Given the description of an element on the screen output the (x, y) to click on. 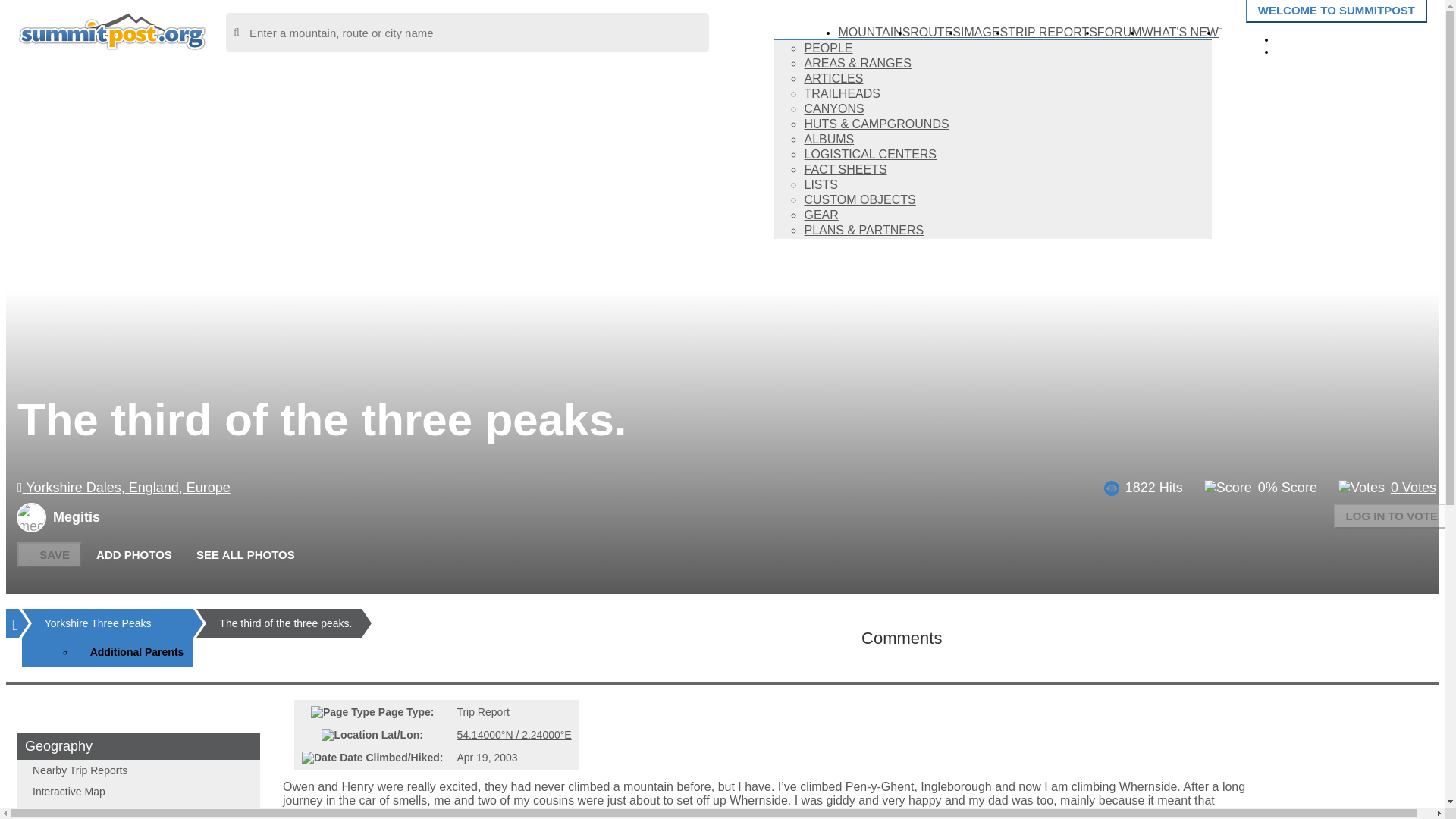
Megitis (62, 517)
IMAGES (983, 31)
WELCOME TO SUMMITPOST (1336, 11)
Views (1111, 488)
Location (349, 734)
megitis (31, 517)
search (467, 32)
Votes (1361, 487)
MOUNTAINS (874, 31)
ROUTES (935, 31)
WHAT'S NEW (1179, 31)
SEE ALL PHOTOS (245, 554)
ARTICLES (833, 78)
PEOPLE (827, 47)
The third of the three peaks. (285, 623)
